Given the description of an element on the screen output the (x, y) to click on. 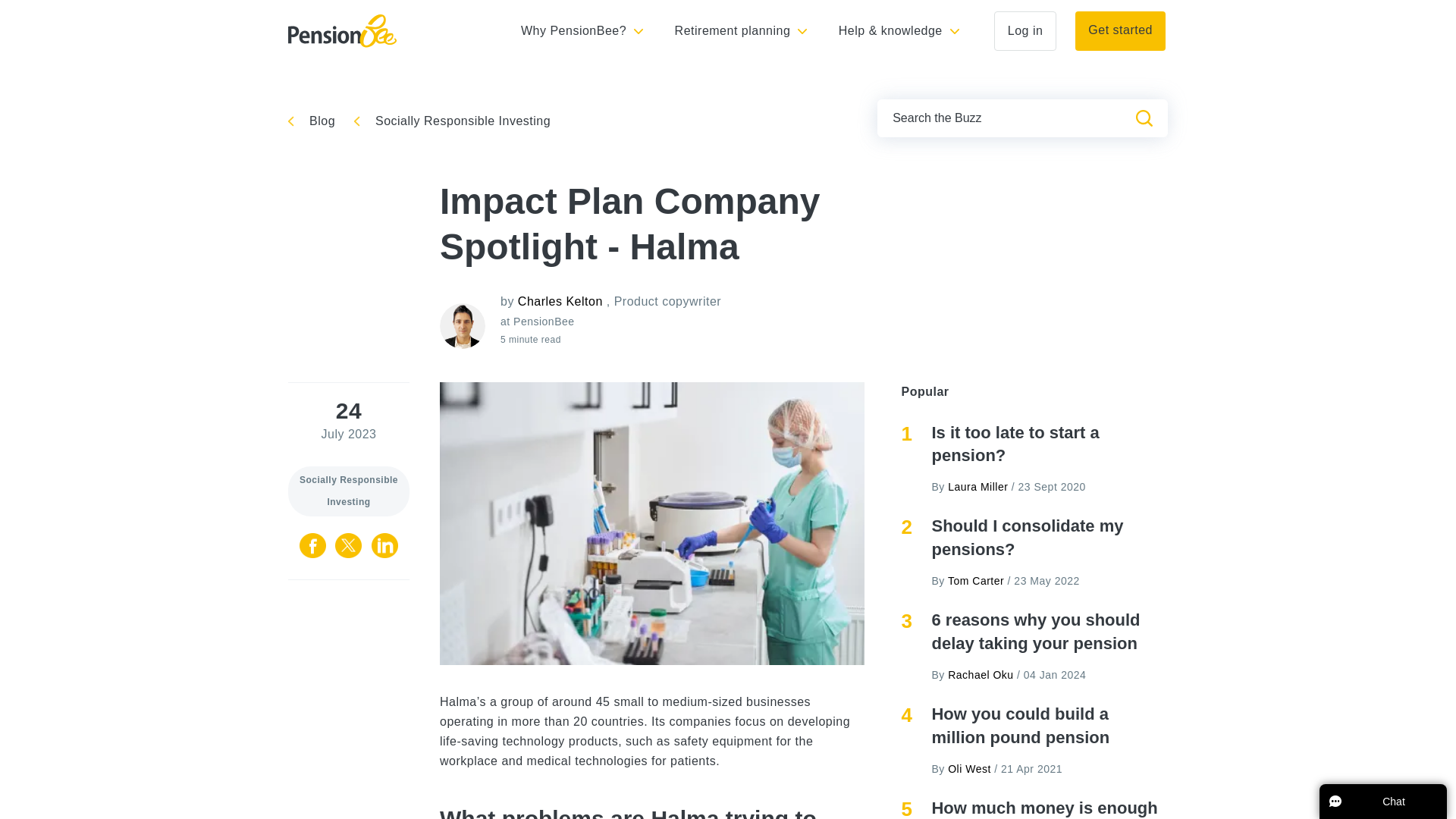
PensionBee on LinkedIn (384, 551)
Share it on facebook (314, 551)
Why PensionBee? (582, 30)
Retirement planning (741, 30)
Share it on x (349, 551)
